Given the description of an element on the screen output the (x, y) to click on. 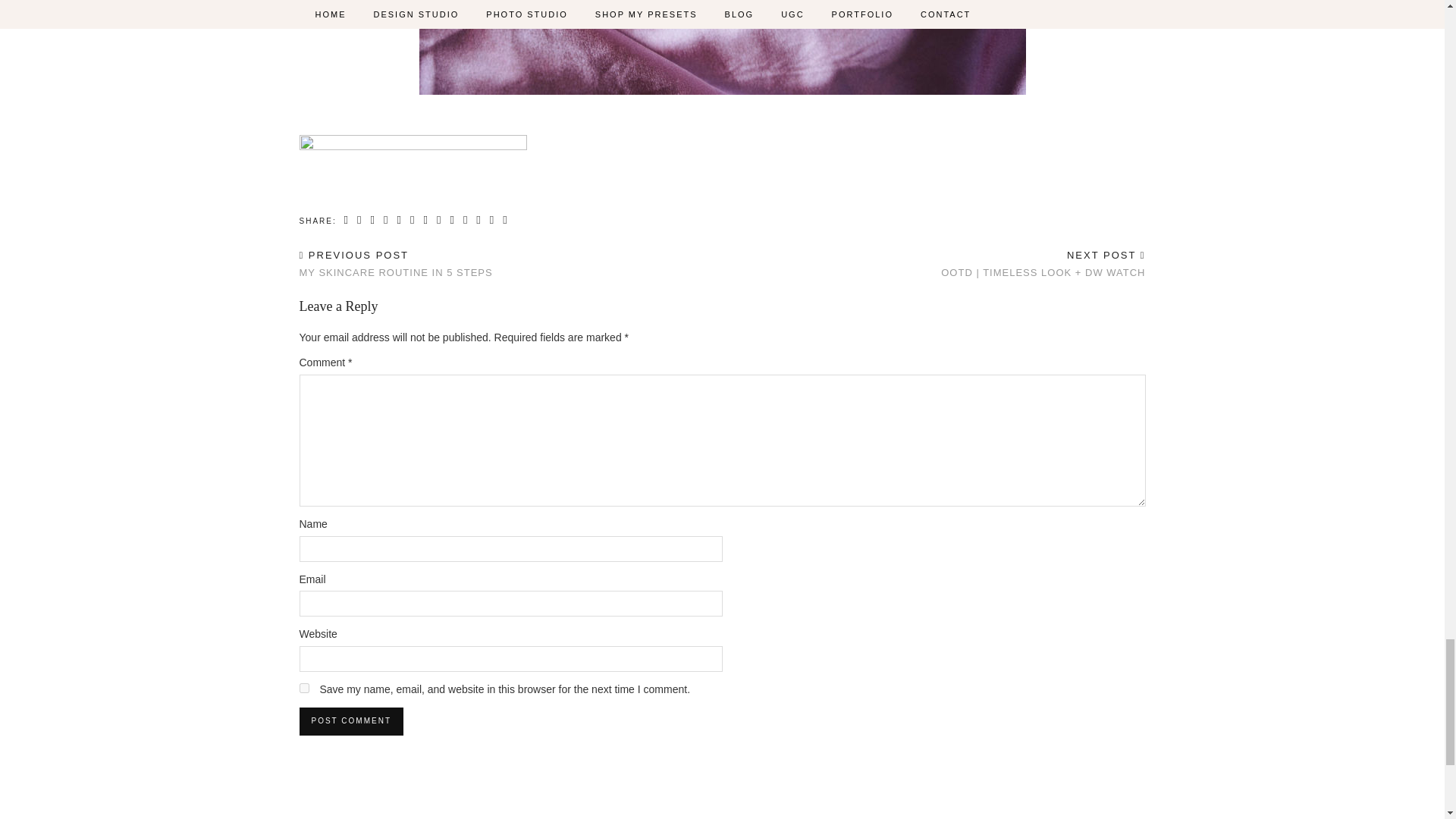
Save to Pocket (492, 220)
Share on Pinterest (386, 220)
Share on Twitter (372, 220)
Share on wp.com (505, 220)
Share on VK (438, 220)
Share on tumblr (399, 220)
Share on linkedin (451, 220)
Share on whatsapp (425, 220)
yes (303, 687)
Share on reddit (465, 220)
Post Comment (350, 720)
Share on Facebook (359, 220)
Share on digg (477, 220)
Share on Weibo (412, 220)
Share via email (346, 220)
